Given the description of an element on the screen output the (x, y) to click on. 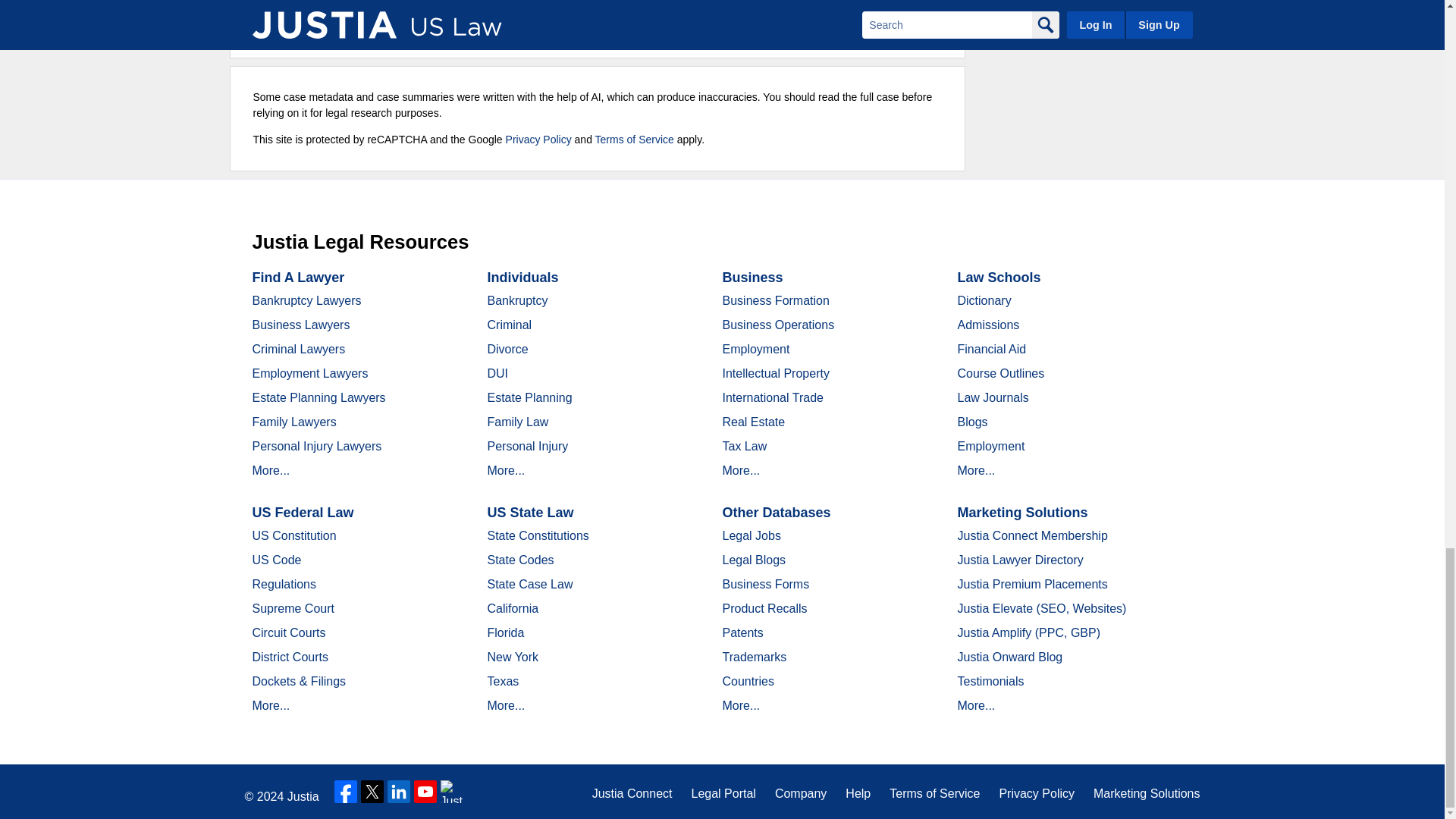
Privacy Policy (538, 139)
Twitter (372, 791)
LinkedIn (398, 791)
Facebook (345, 791)
